Given the description of an element on the screen output the (x, y) to click on. 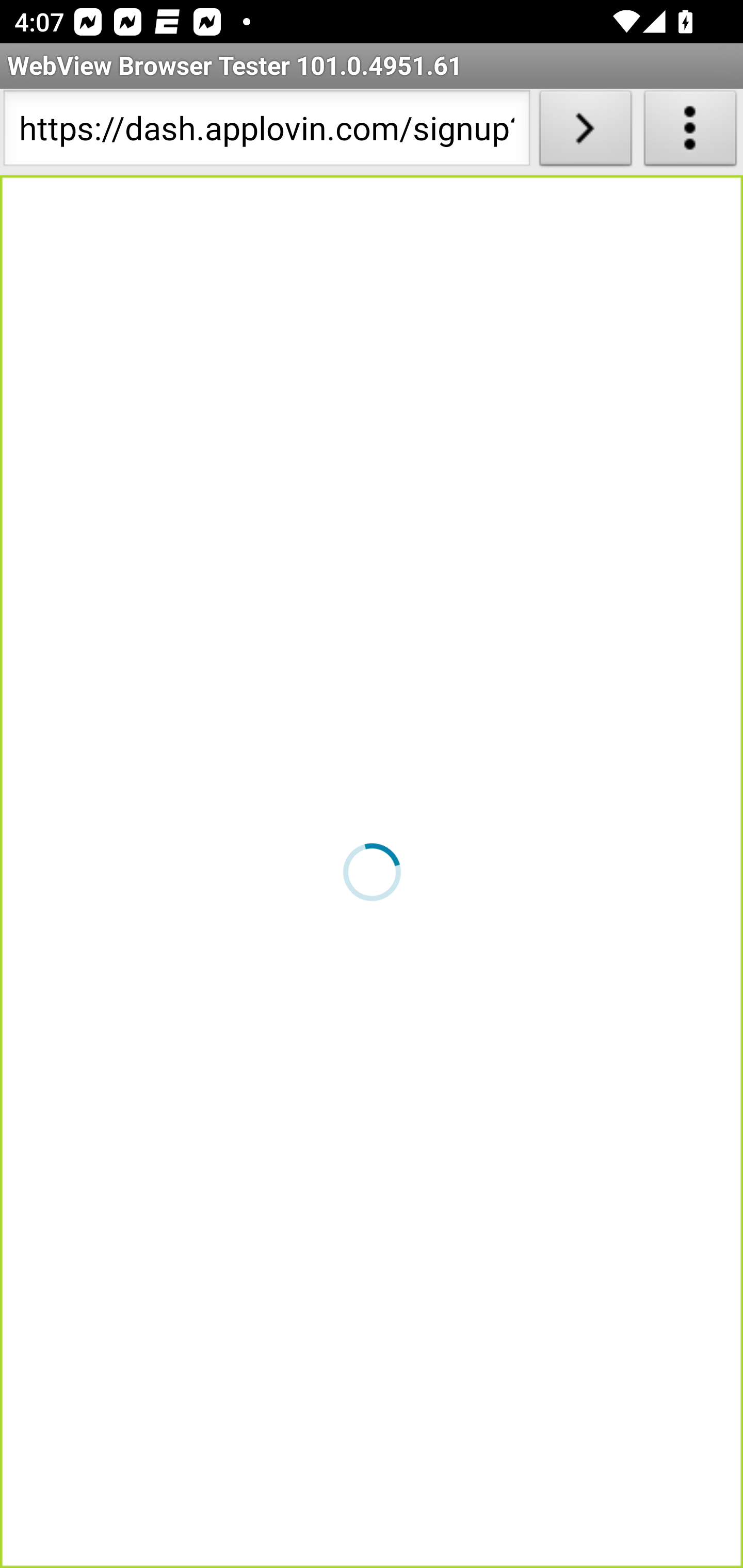
Load URL (585, 132)
About WebView (690, 132)
